Given the description of an element on the screen output the (x, y) to click on. 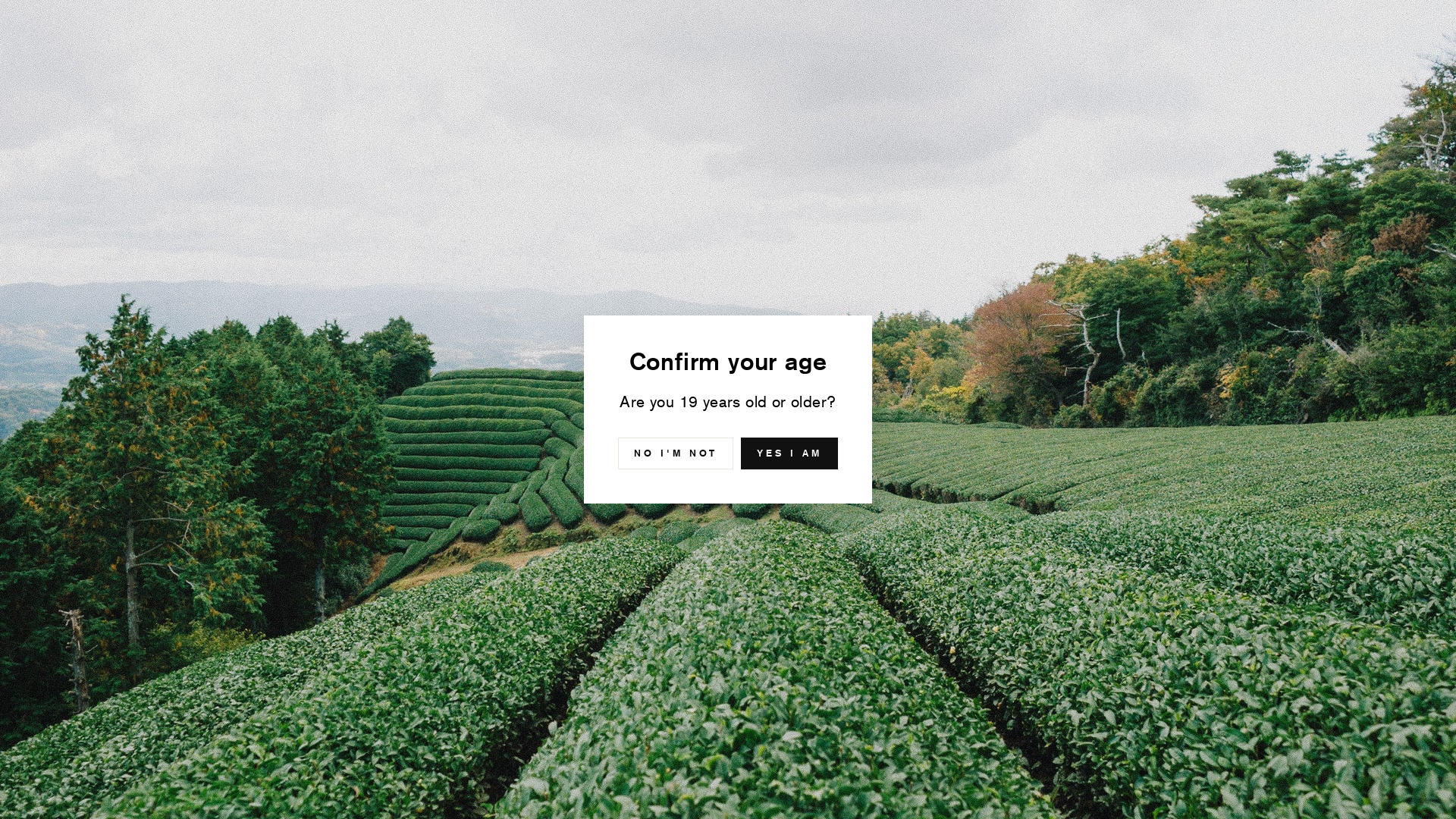
icon-search
Search Element type: text (1216, 42)
Contact Us Element type: text (826, 42)
Home Element type: text (203, 162)
FAQ's Element type: text (903, 42)
icon-X
"Close (esc)" Element type: text (972, 326)
YES I AM Element type: text (788, 453)
icon-bag-minimal
Cart Element type: text (1255, 42)
NO I'M NOT Element type: text (675, 453)
About Us Element type: text (741, 42)
Brands Element type: text (668, 42)
SUBSCRIBE TO OUR NEWSLETTERexclusive releases and offers Element type: text (727, 101)
